Given the description of an element on the screen output the (x, y) to click on. 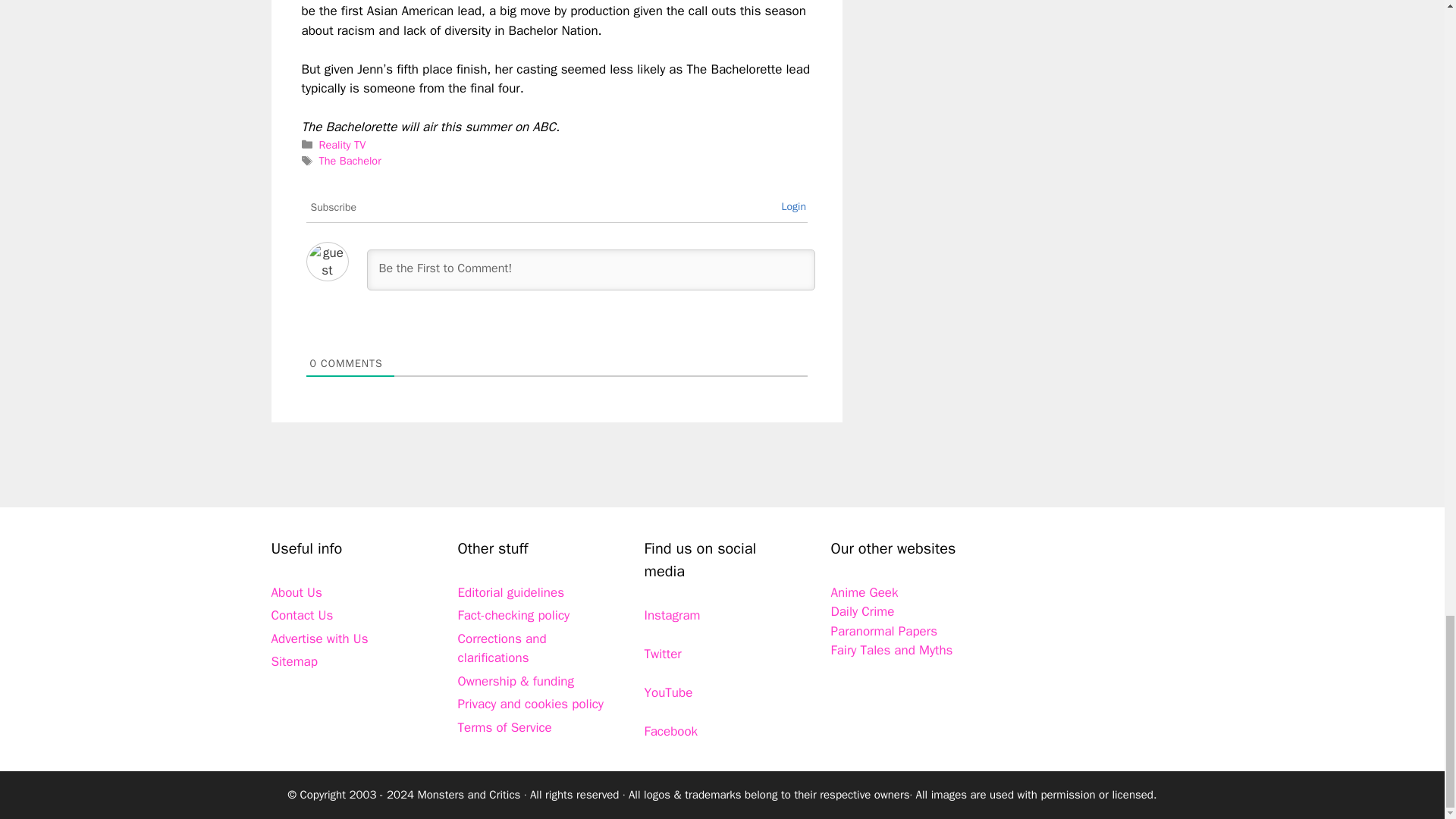
Fact-checking policy (514, 615)
About Us (295, 592)
Login (793, 205)
The Bachelor (349, 160)
Corrections and clarifications (502, 648)
Advertise with Us (319, 638)
Sitemap (293, 661)
Contact Us (301, 615)
Editorial guidelines (511, 592)
Reality TV (342, 144)
